Given the description of an element on the screen output the (x, y) to click on. 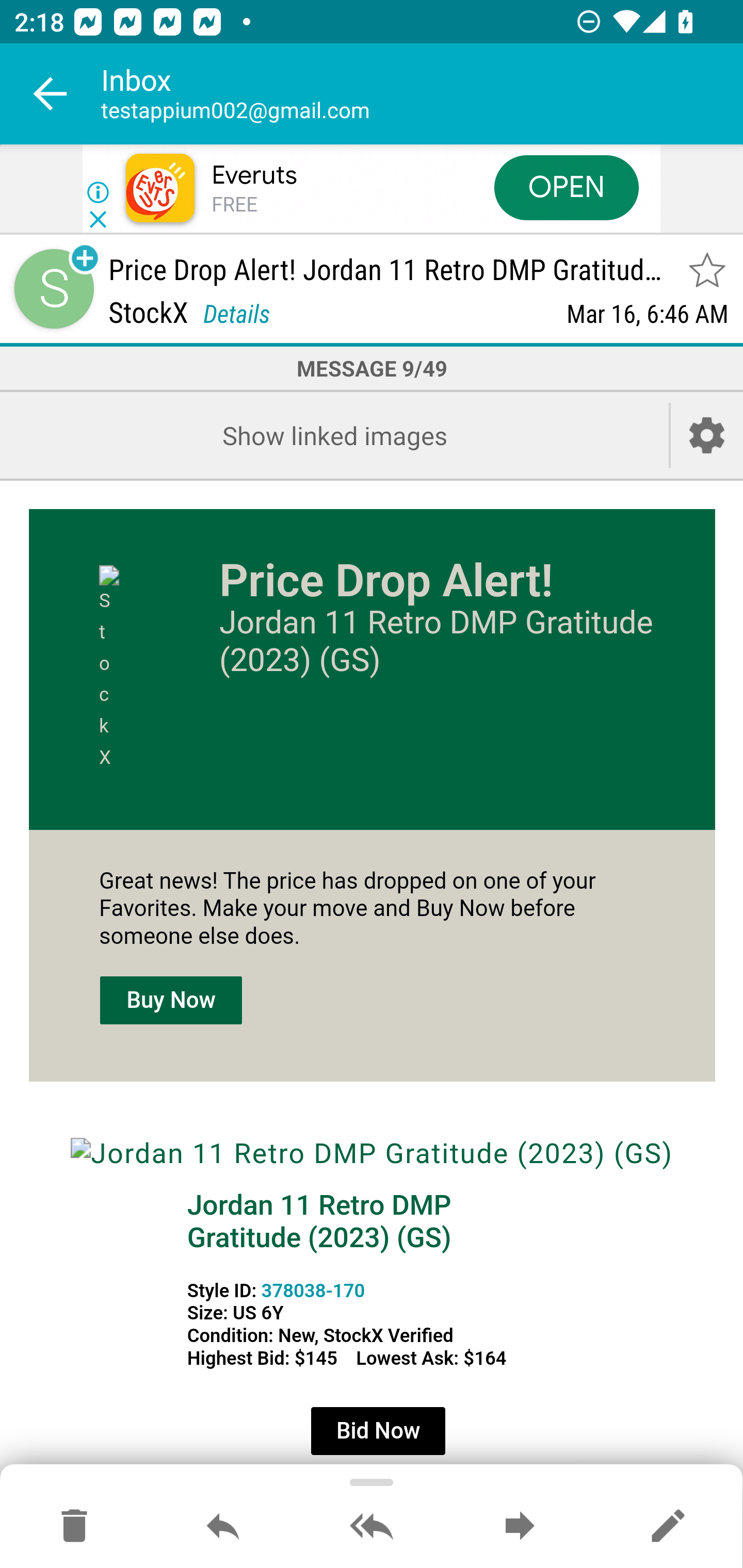
Navigate up (50, 93)
Inbox testappium002@gmail.com (422, 93)
OPEN (566, 187)
Everuts (253, 175)
FREE (234, 204)
Sender contact button (53, 289)
Show linked images (334, 435)
Account setup (706, 435)
StockX (130, 669)
Buy Now (170, 1000)
Jordan 11 Retro DMP Gratitude (2023) (GS) (371, 1153)
Jordan 11 Retro DMP Gratitude (2023) (GS) (319, 1221)
378038-170 (313, 1290)
Bid Now (378, 1430)
Move to Deleted (74, 1527)
Reply (222, 1527)
Reply all (371, 1527)
Forward (519, 1527)
Reply as new (667, 1527)
